Given the description of an element on the screen output the (x, y) to click on. 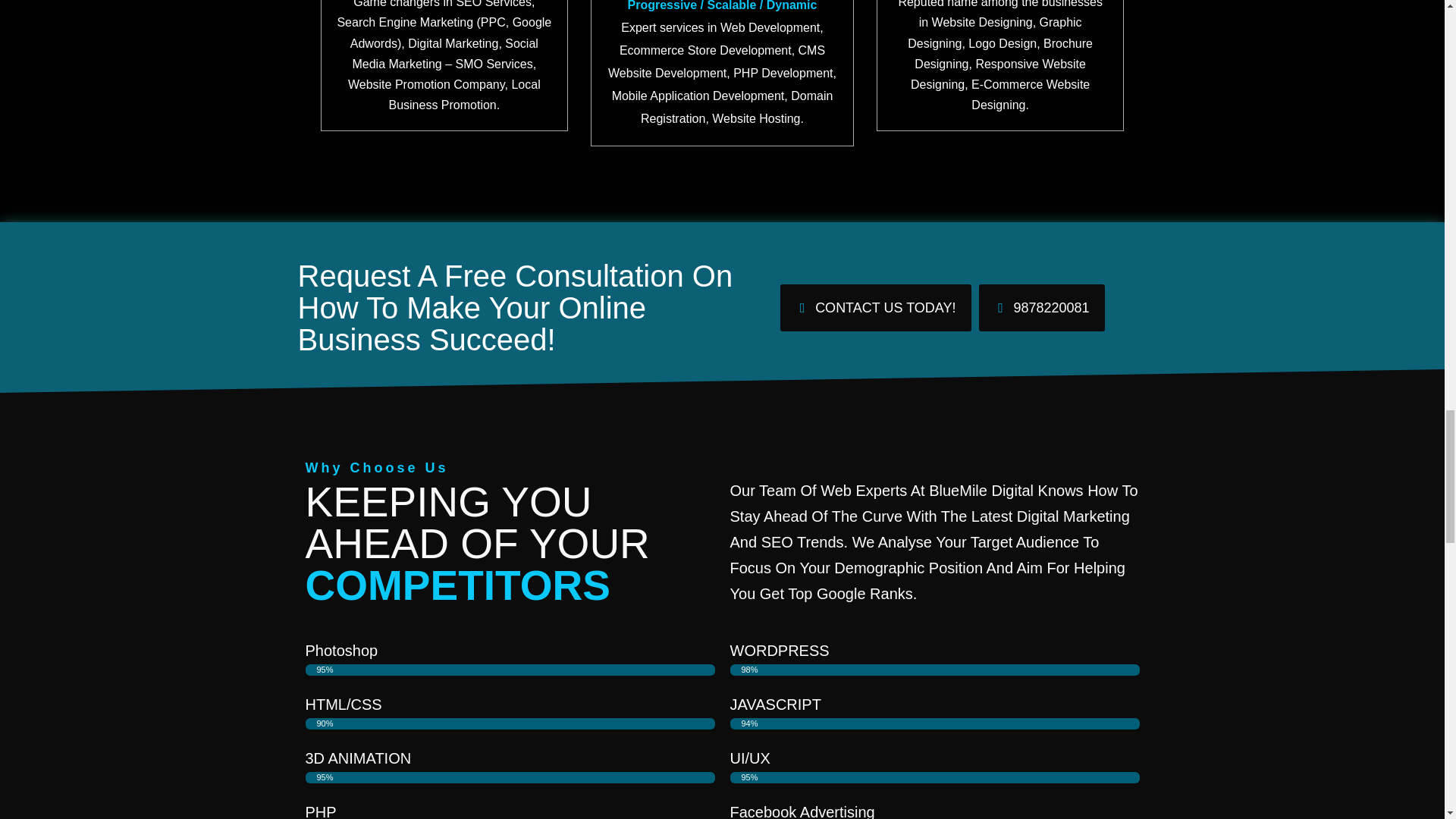
CONTACT US TODAY! (875, 307)
9878220081 (1040, 307)
